Given the description of an element on the screen output the (x, y) to click on. 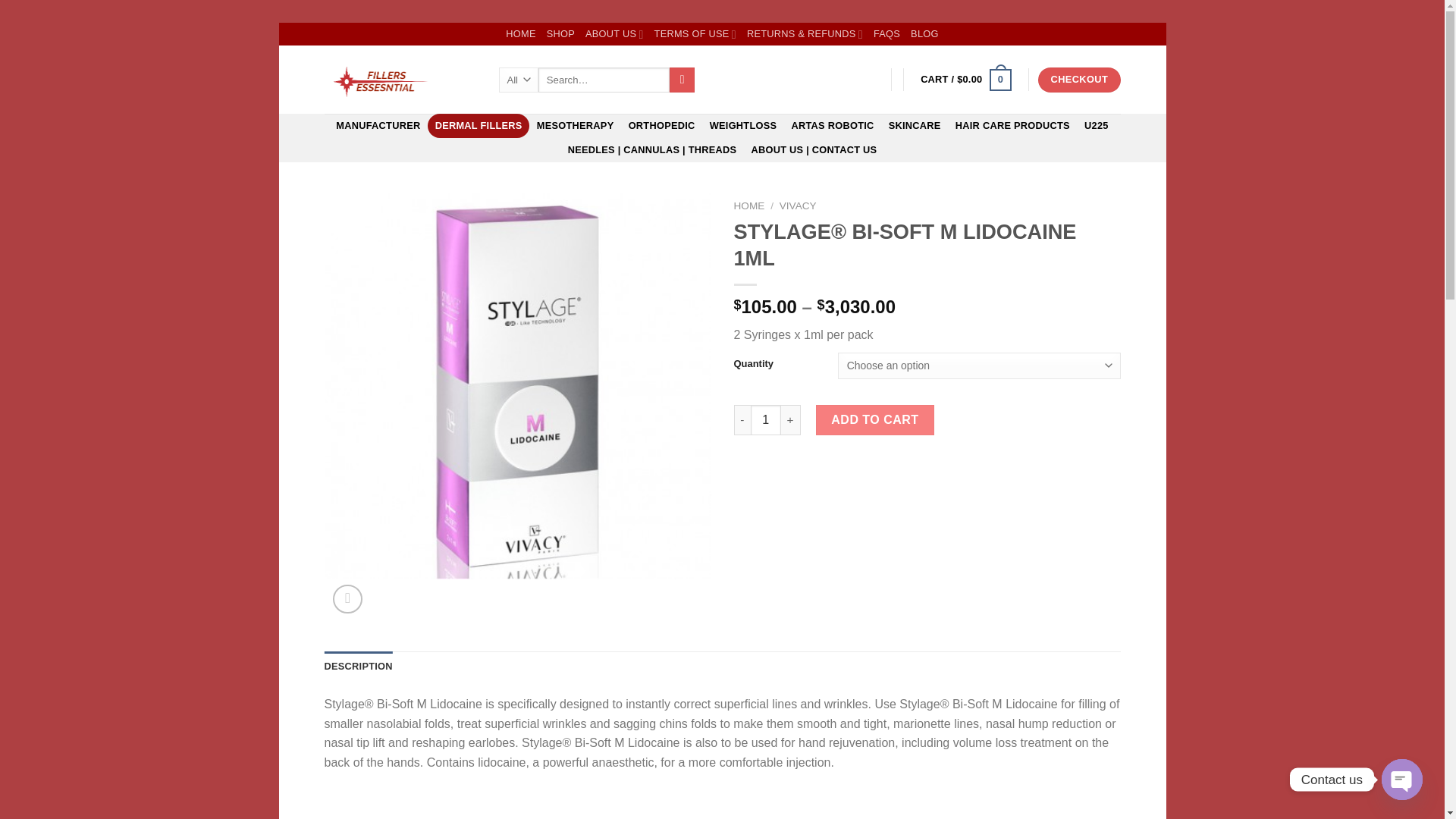
ORTHOPEDIC (661, 125)
TERMS OF USE (694, 33)
FILLER ESSENTIALS - Cosmetic Filler Essential (400, 79)
HOME (520, 33)
WEIGHTLOSS (742, 125)
Qty (765, 419)
MANUFACTURER (378, 125)
VIVACY (797, 205)
ABOUT US (614, 33)
Search (681, 80)
DERMAL FILLERS (478, 125)
Zoom (347, 599)
SHOP (561, 33)
